Given the description of an element on the screen output the (x, y) to click on. 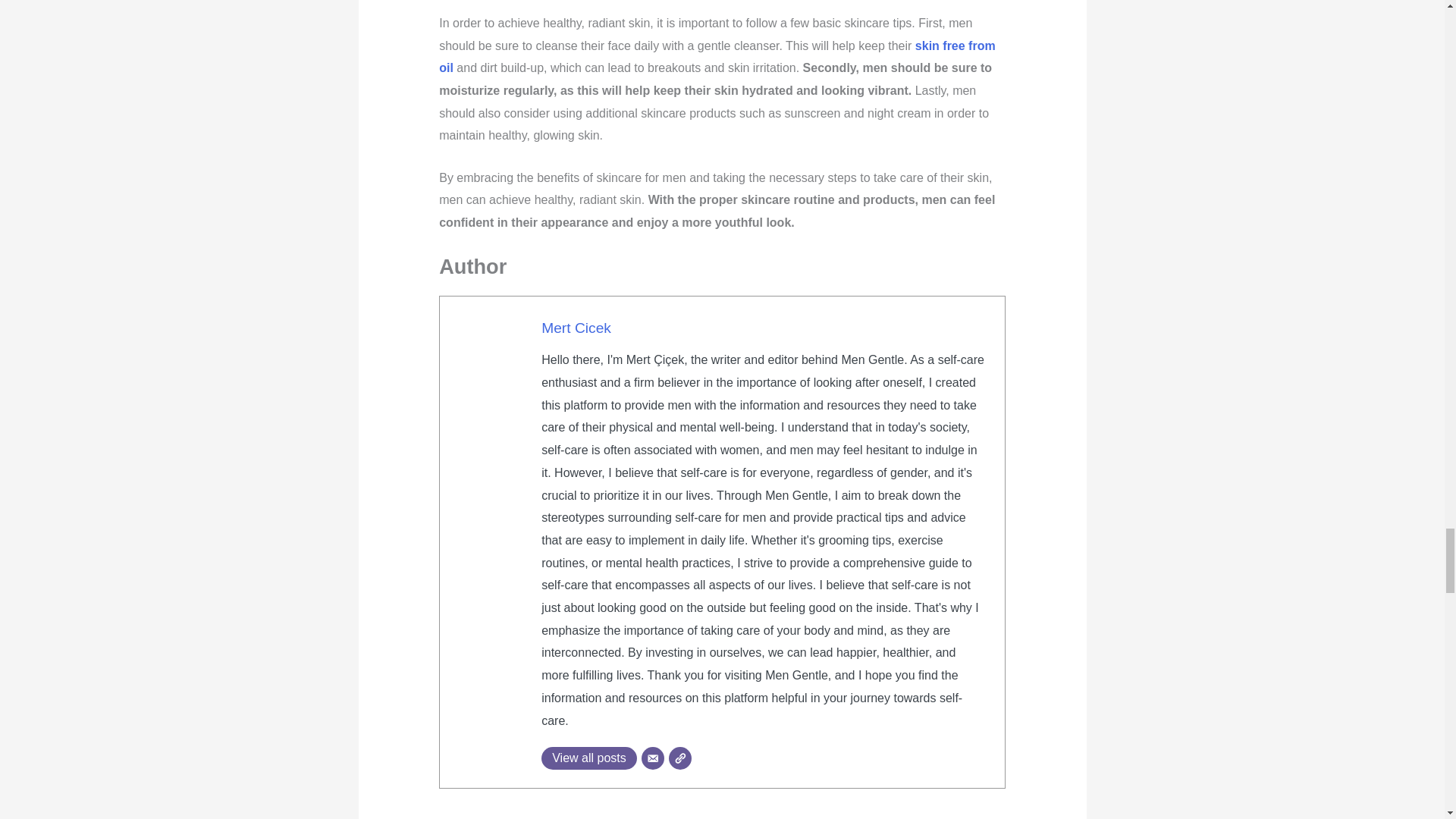
Mert Cicek (576, 327)
skin free from oil (716, 57)
Mert Cicek (576, 327)
View all posts (589, 757)
View all posts (589, 757)
